Given the description of an element on the screen output the (x, y) to click on. 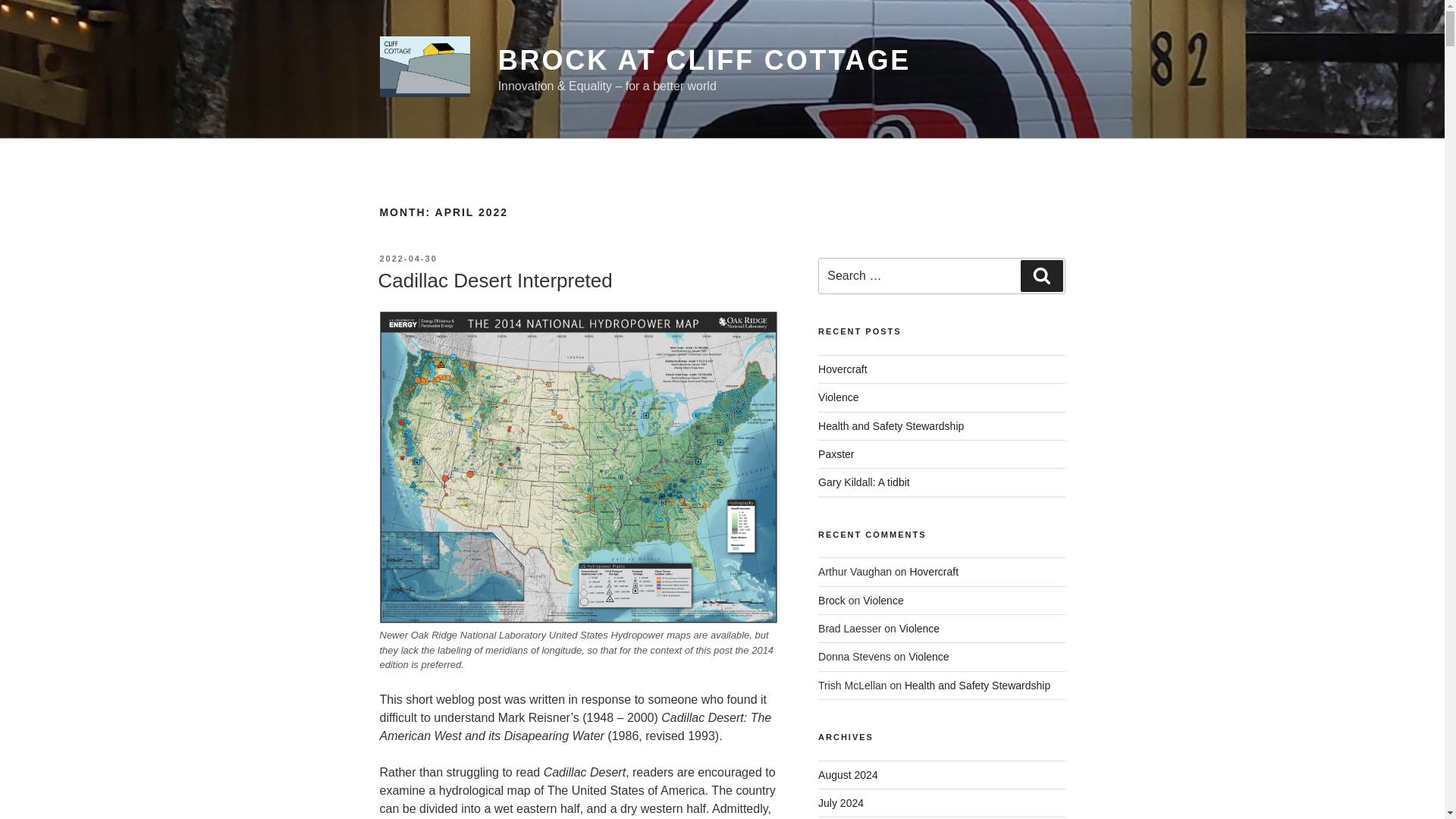
2022-04-30 (407, 257)
Cadillac Desert Interpreted (494, 280)
Search (1041, 275)
Violence (838, 397)
BROCK AT CLIFF COTTAGE (704, 60)
Hovercraft (842, 369)
